Given the description of an element on the screen output the (x, y) to click on. 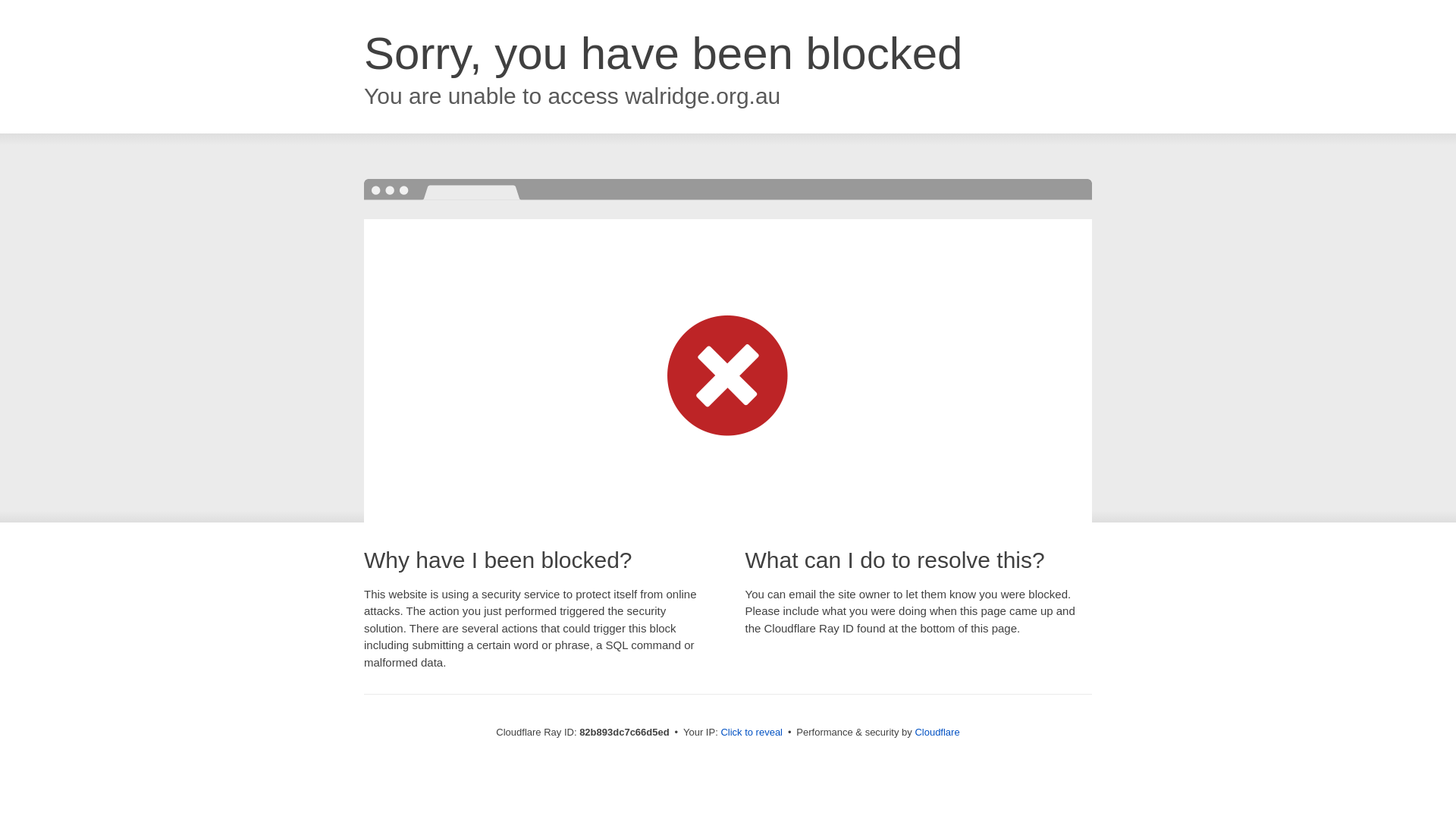
Cloudflare Element type: text (936, 731)
Click to reveal Element type: text (751, 732)
